Given the description of an element on the screen output the (x, y) to click on. 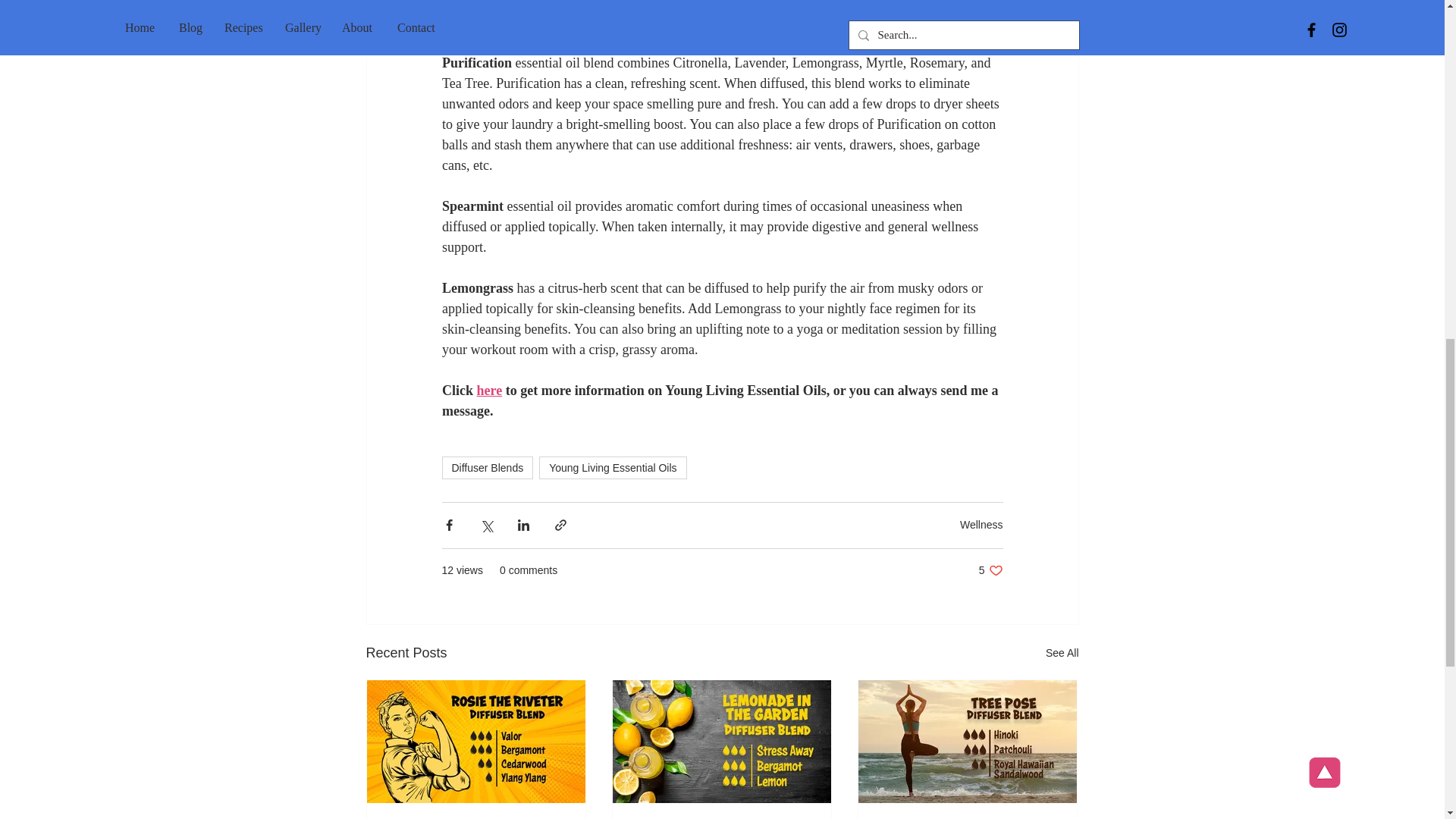
See All (1061, 653)
Wellness (981, 524)
Young Living Essential Oils (611, 467)
Diffuser Blends (990, 570)
here (486, 467)
